Given the description of an element on the screen output the (x, y) to click on. 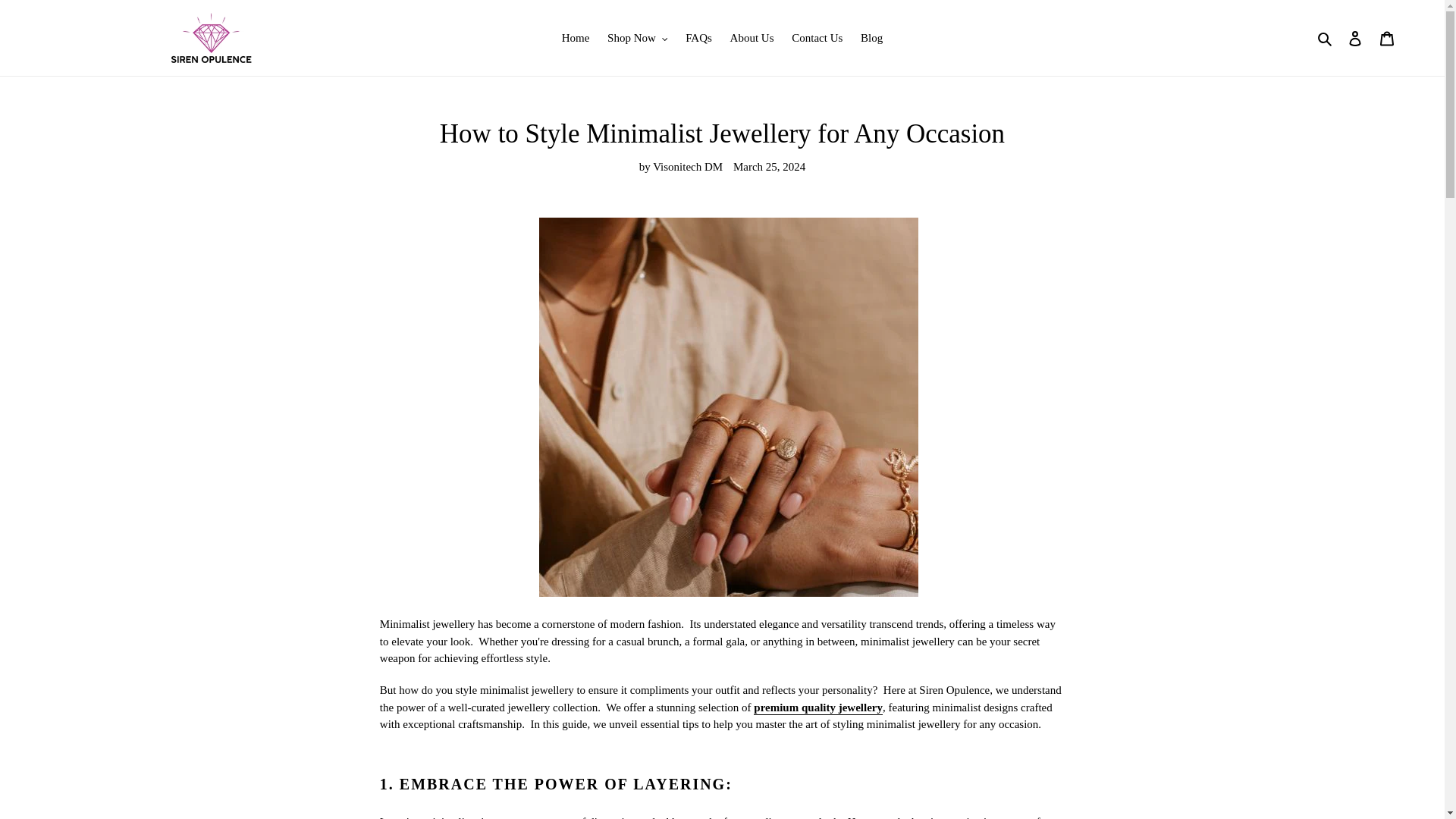
Cart (1387, 38)
Home (575, 38)
About Us (751, 38)
Log in (1355, 38)
Search (1326, 37)
Shop Now (637, 38)
Blog (871, 38)
Contact Us (817, 38)
FAQs (698, 38)
